Given the description of an element on the screen output the (x, y) to click on. 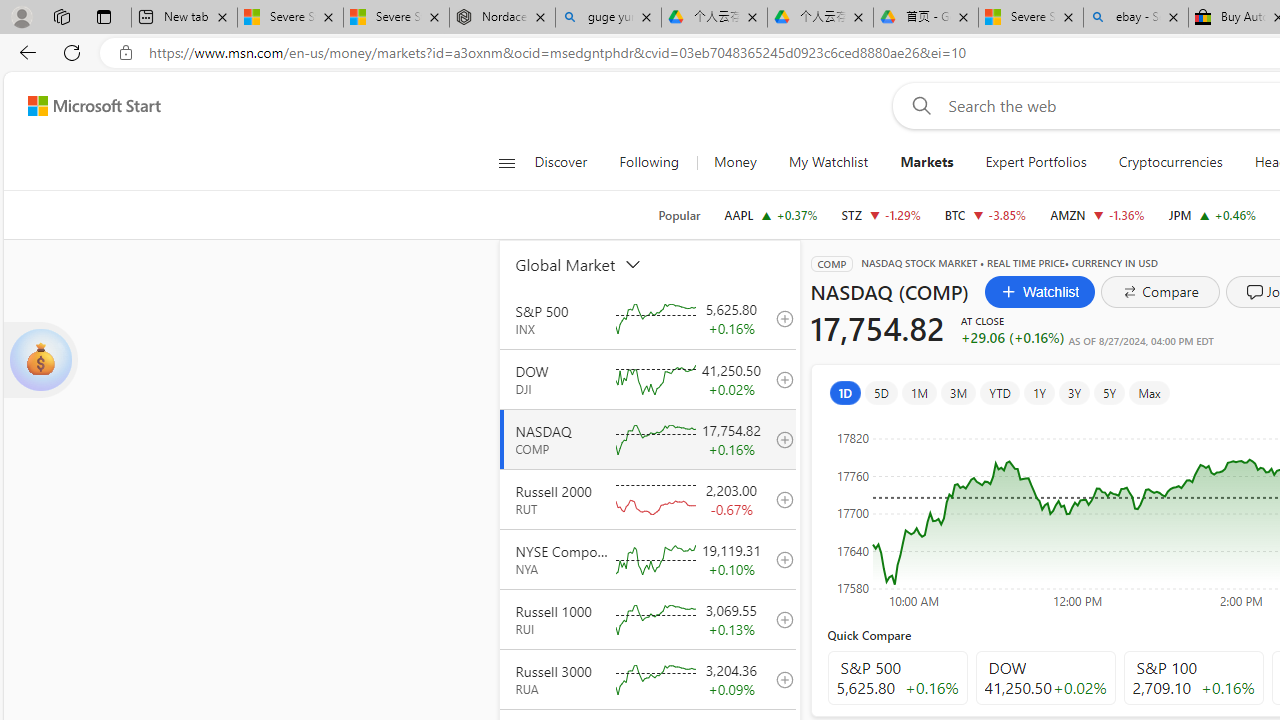
STZ CONSTELLATION BRANDS, INC. decrease 239.98 -3.13 -1.29% (881, 214)
show card (40, 359)
Discover (560, 162)
My Watchlist (828, 162)
Global Market (601, 264)
Expert Portfolios (1035, 162)
Following (648, 162)
AAPL APPLE INC. increase 228.03 +0.85 +0.37% (770, 214)
Class: button-glyph (505, 162)
